Given the description of an element on the screen output the (x, y) to click on. 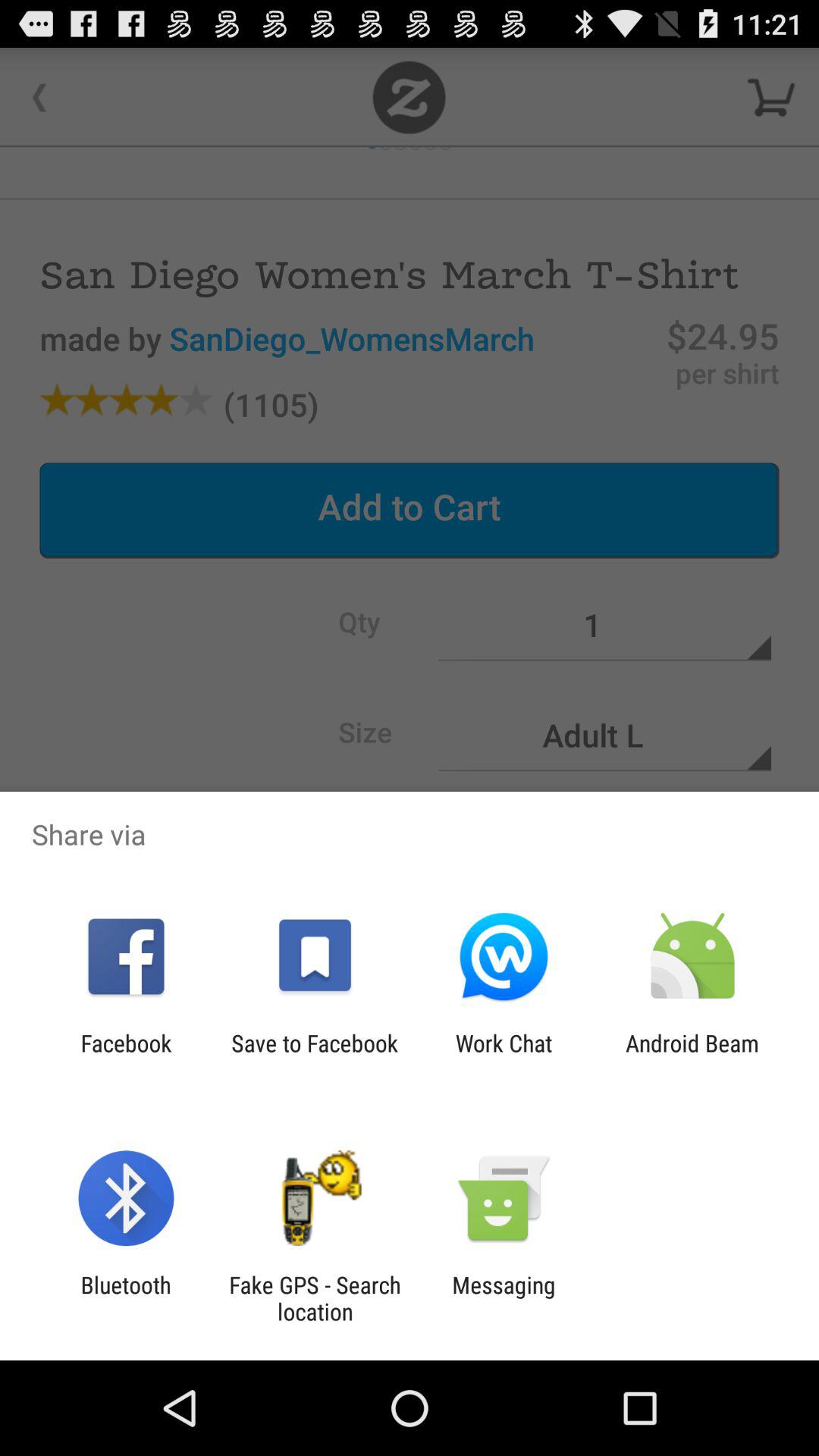
scroll until save to facebook icon (314, 1056)
